Given the description of an element on the screen output the (x, y) to click on. 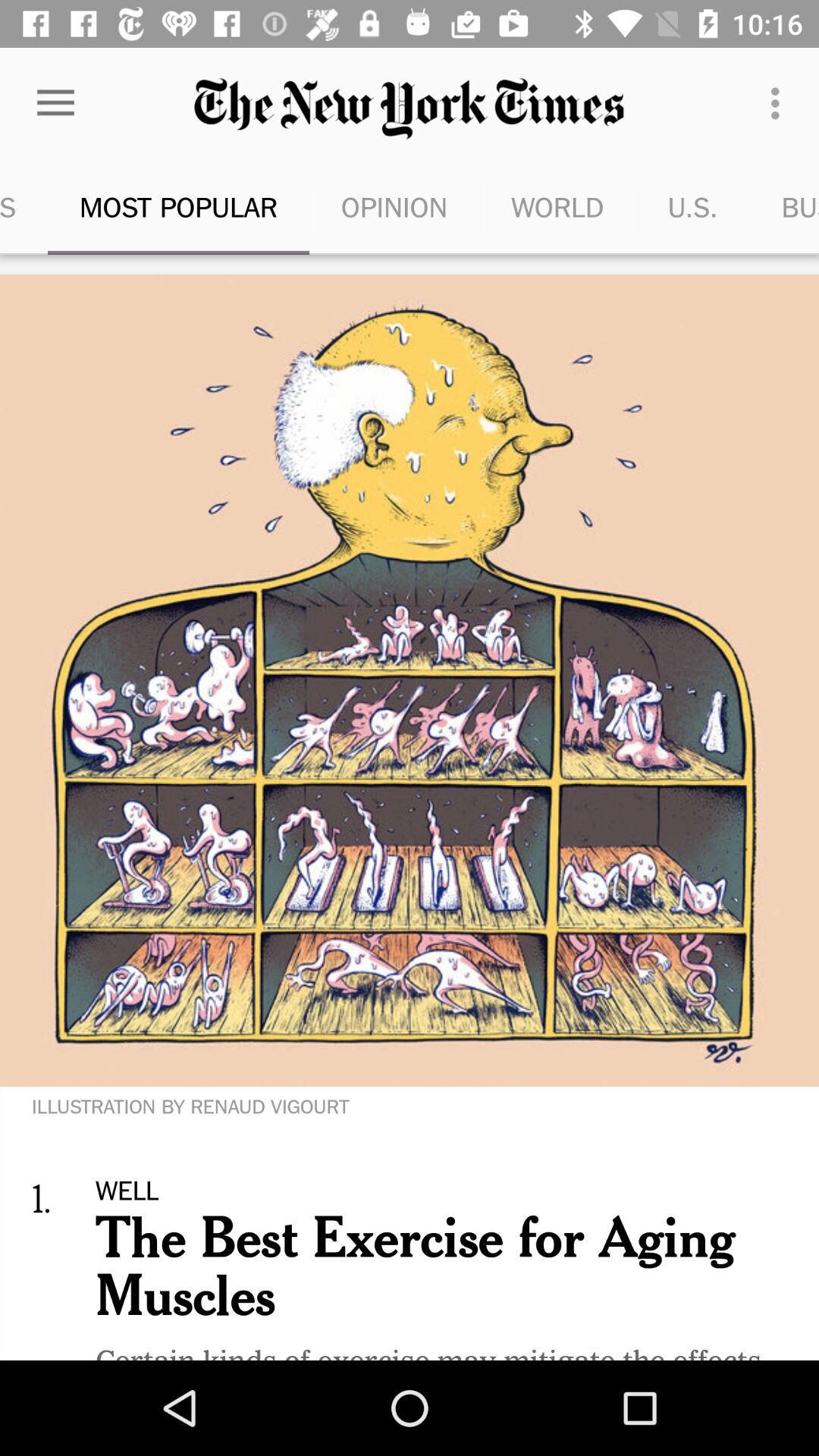
tap the icon above top stories (55, 103)
